Given the description of an element on the screen output the (x, y) to click on. 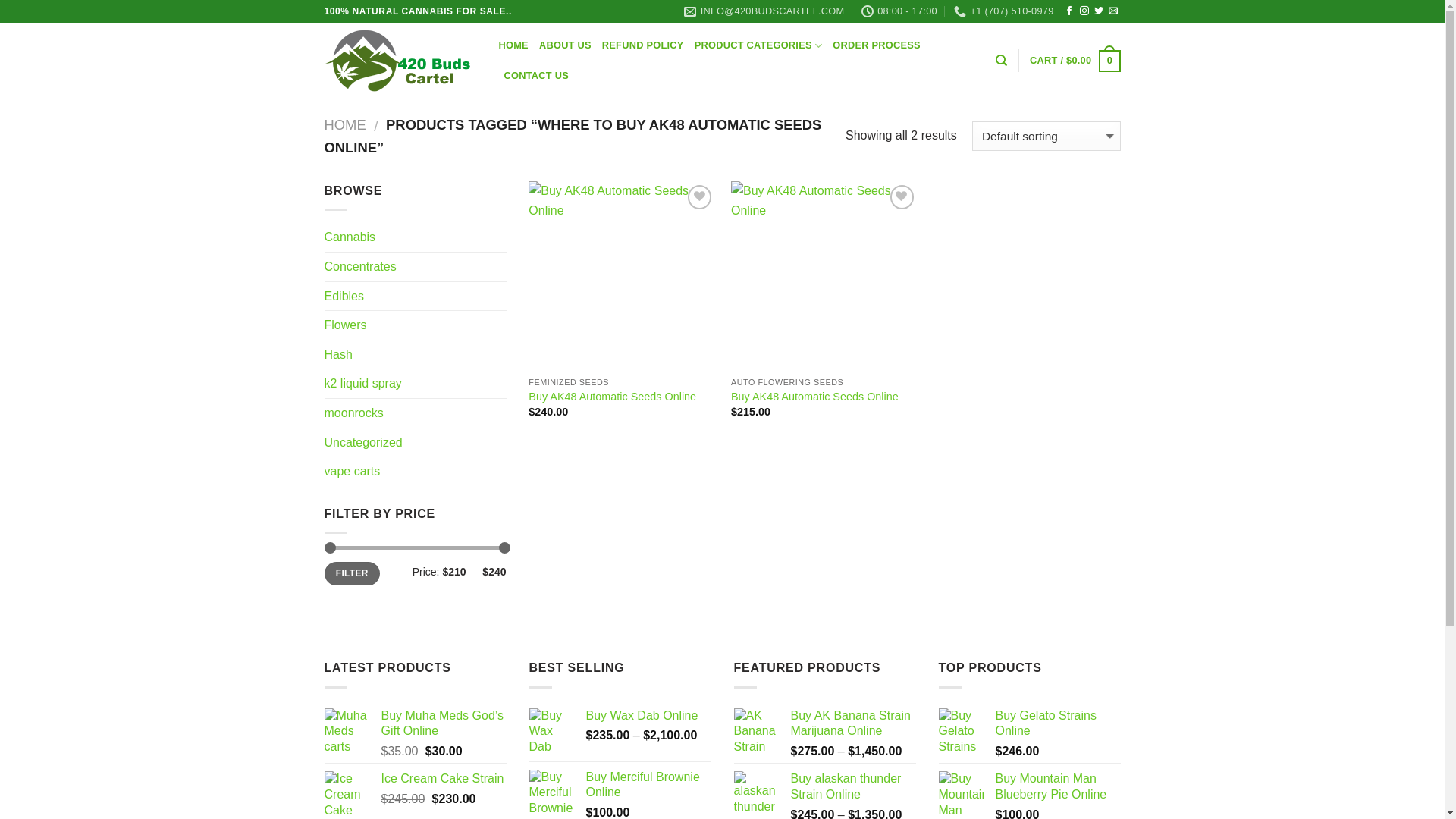
+1 (707) 510-0979 Element type: text (1003, 11)
Hash Element type: text (415, 354)
Flowers Element type: text (415, 324)
PRODUCT CATEGORIES Element type: text (758, 45)
Buy alaskan thunder Strain Online Element type: text (852, 787)
Buy Gelato Strains Online Element type: text (1057, 724)
FILTER Element type: text (351, 573)
vape carts Element type: text (415, 471)
ORDER PROCESS Element type: text (876, 45)
Concentrates Element type: text (415, 266)
CART / $0.00
0 Element type: text (1074, 61)
k2 liquid spray Element type: text (415, 383)
Follow on Instagram Element type: hover (1083, 11)
Follow on Facebook Element type: hover (1068, 11)
Cannabis Element type: text (415, 236)
CONTACT US Element type: text (535, 75)
Send us an email Element type: hover (1112, 11)
08:00 - 17:00 Element type: text (899, 11)
Ice Cream Cake Strain Element type: text (442, 779)
Buy Wax Dab Online Element type: text (647, 716)
Buy Merciful Brownie Online Element type: text (647, 785)
Buy AK48 Automatic Seeds Online Element type: text (814, 396)
ABOUT US Element type: text (565, 45)
Edibles Element type: text (415, 296)
Uncategorized Element type: text (415, 442)
Buy AK48 Automatic Seeds Online Element type: text (612, 396)
HOME Element type: text (513, 45)
Buy Mountain Man Blueberry Pie Online Element type: text (1057, 787)
REFUND POLICY Element type: text (643, 45)
Buy AK Banana Strain Marijuana Online Element type: text (852, 724)
INFO@420BUDSCARTEL.COM Element type: text (764, 11)
moonrocks Element type: text (415, 412)
HOME Element type: text (345, 124)
Follow on Twitter Element type: hover (1098, 11)
